Given the description of an element on the screen output the (x, y) to click on. 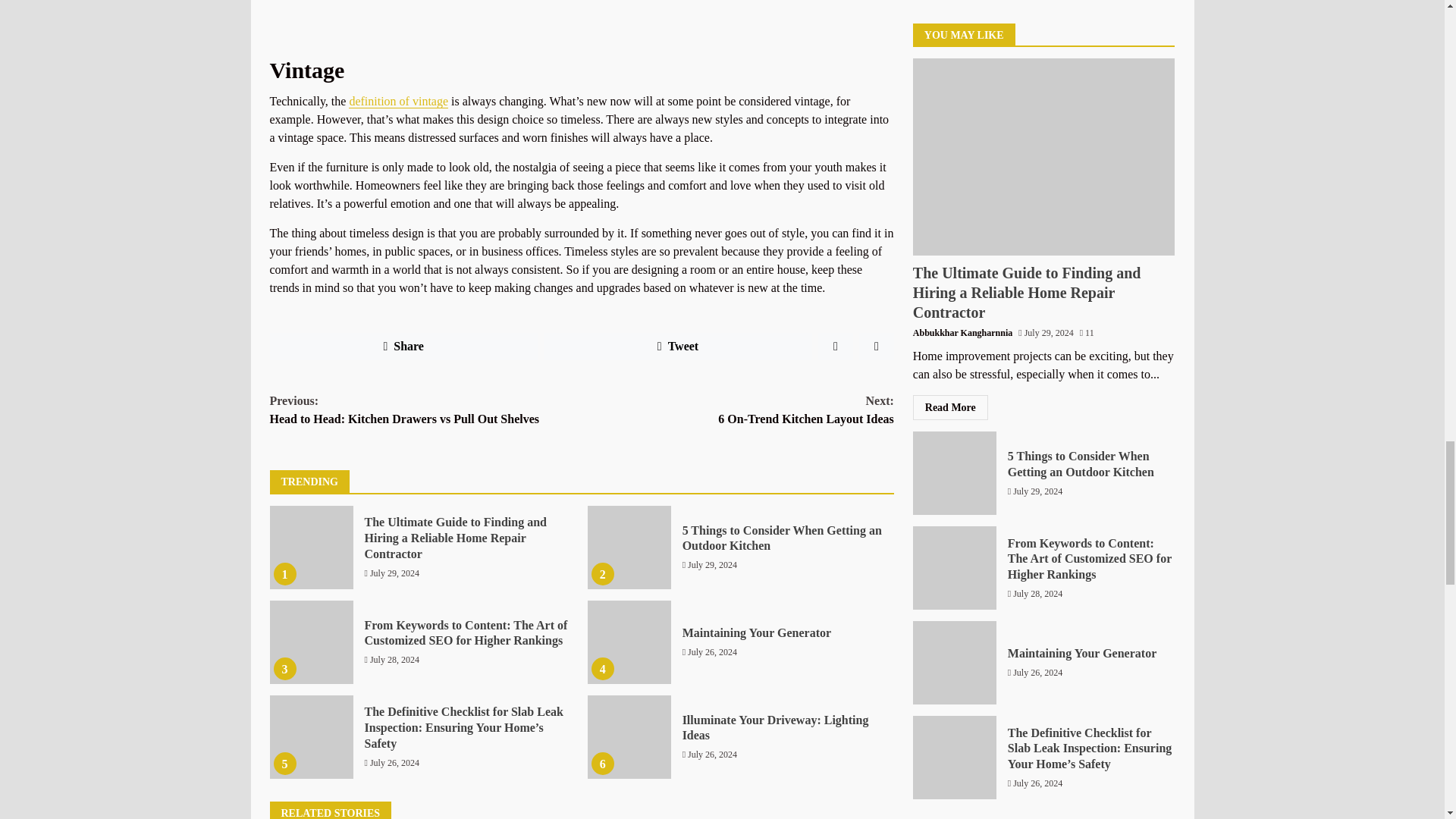
Share (403, 346)
Maintaining Your Generator (629, 641)
5 Things to Consider When Getting an Outdoor Kitchen (782, 538)
5 Things to Consider When Getting an Outdoor Kitchen (425, 410)
Maintaining Your Generator (629, 547)
Tweet (756, 632)
Illuminate Your Driveway: Lighting Ideas (677, 346)
definition of vintage (736, 410)
